Given the description of an element on the screen output the (x, y) to click on. 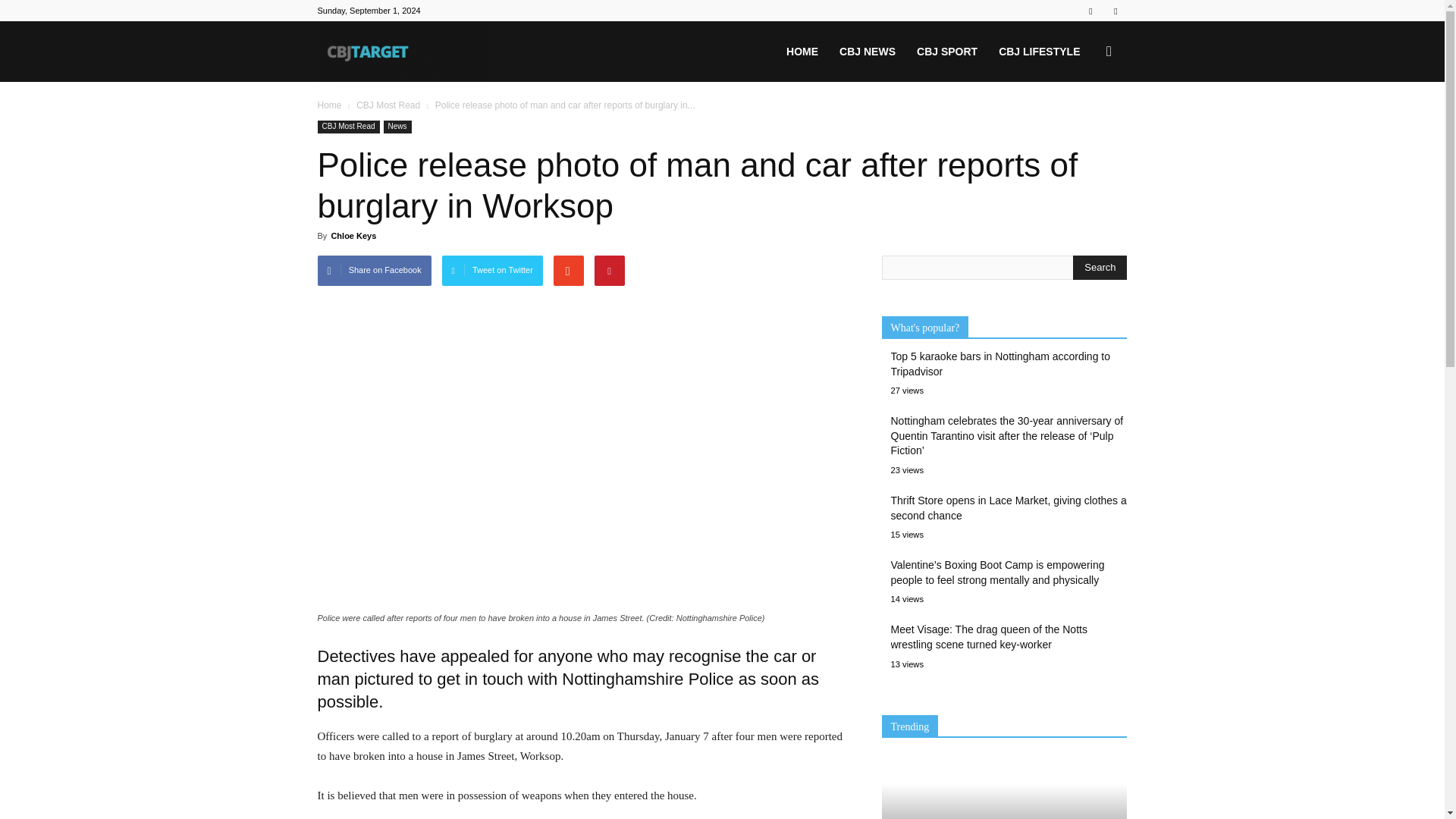
Nottingham Harmonic choir prepares for annual autumn concert (1003, 788)
Home (328, 104)
Top 5 karaoke bars in Nottingham according to Tripadvisor (1007, 364)
Twitter (1114, 10)
Search (1099, 267)
CBJ Most Read (388, 104)
News (398, 126)
Search (1085, 124)
Share on Facebook (373, 270)
CBJ Target (401, 51)
